Given the description of an element on the screen output the (x, y) to click on. 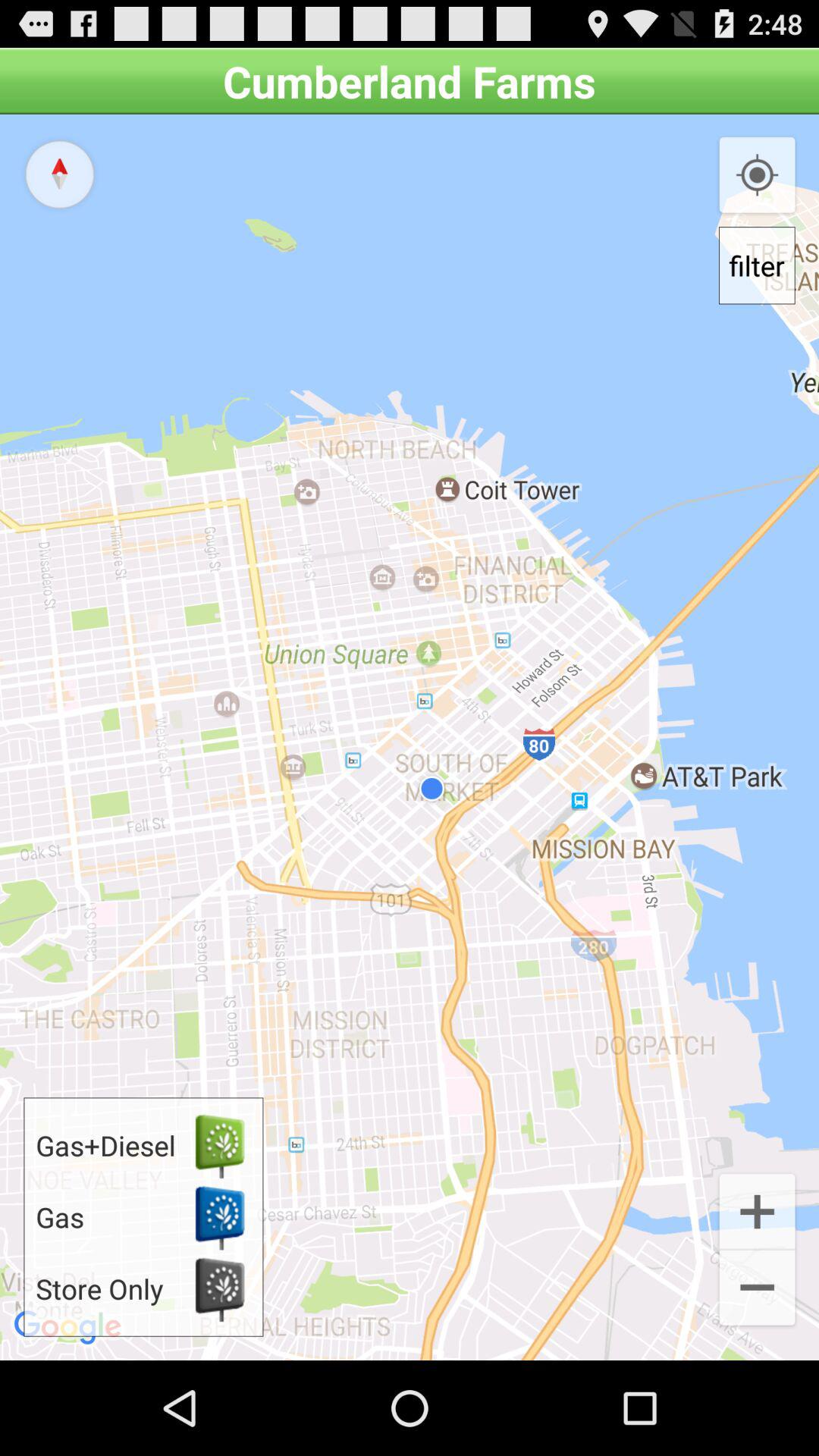
flip to filter icon (756, 265)
